Given the description of an element on the screen output the (x, y) to click on. 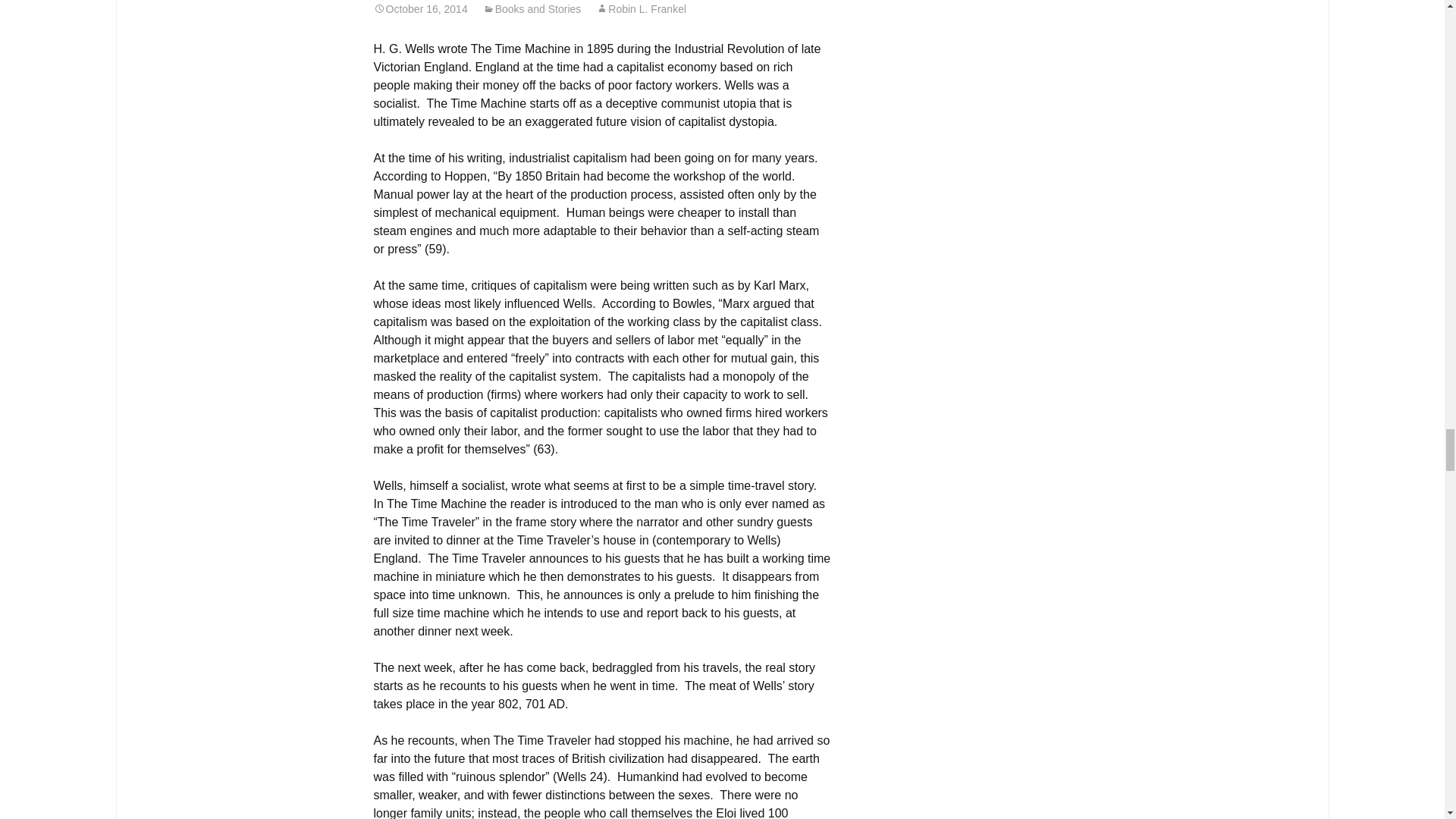
October 16, 2014 (419, 9)
Robin L. Frankel (640, 9)
Books and Stories (531, 9)
